Given the description of an element on the screen output the (x, y) to click on. 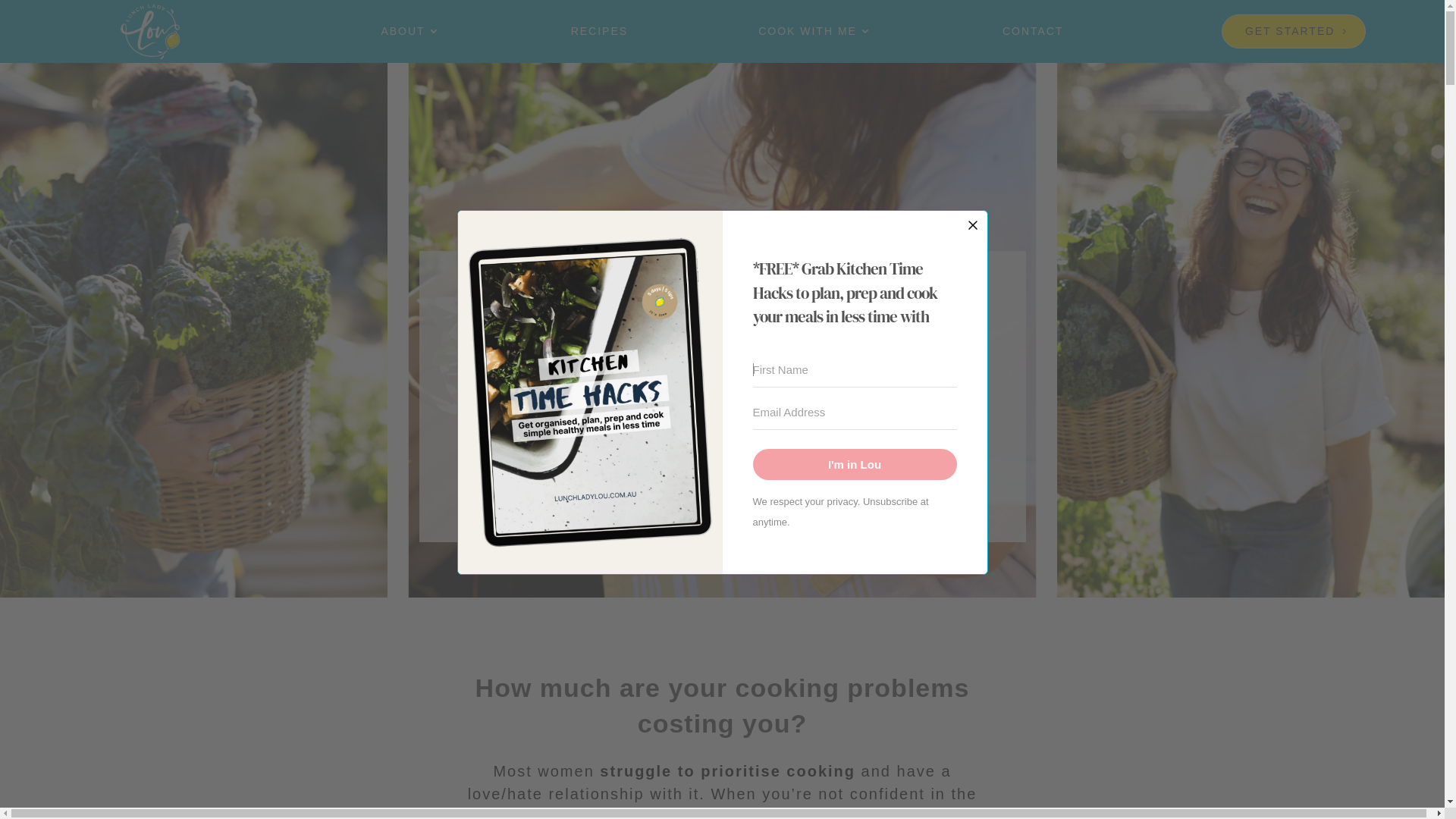
GET STARTED Element type: text (1293, 31)
GET STARTED Element type: text (722, 484)
I'm in Lou Element type: text (854, 464)
Lunch Lady Lou - Kitchen Coach for New Mums Learn to Cook Element type: hover (150, 30)
RECIPES Element type: text (599, 34)
COOK WITH ME Element type: text (815, 34)
CONTACT Element type: text (1032, 34)
ABOUT Element type: text (409, 34)
